Given the description of an element on the screen output the (x, y) to click on. 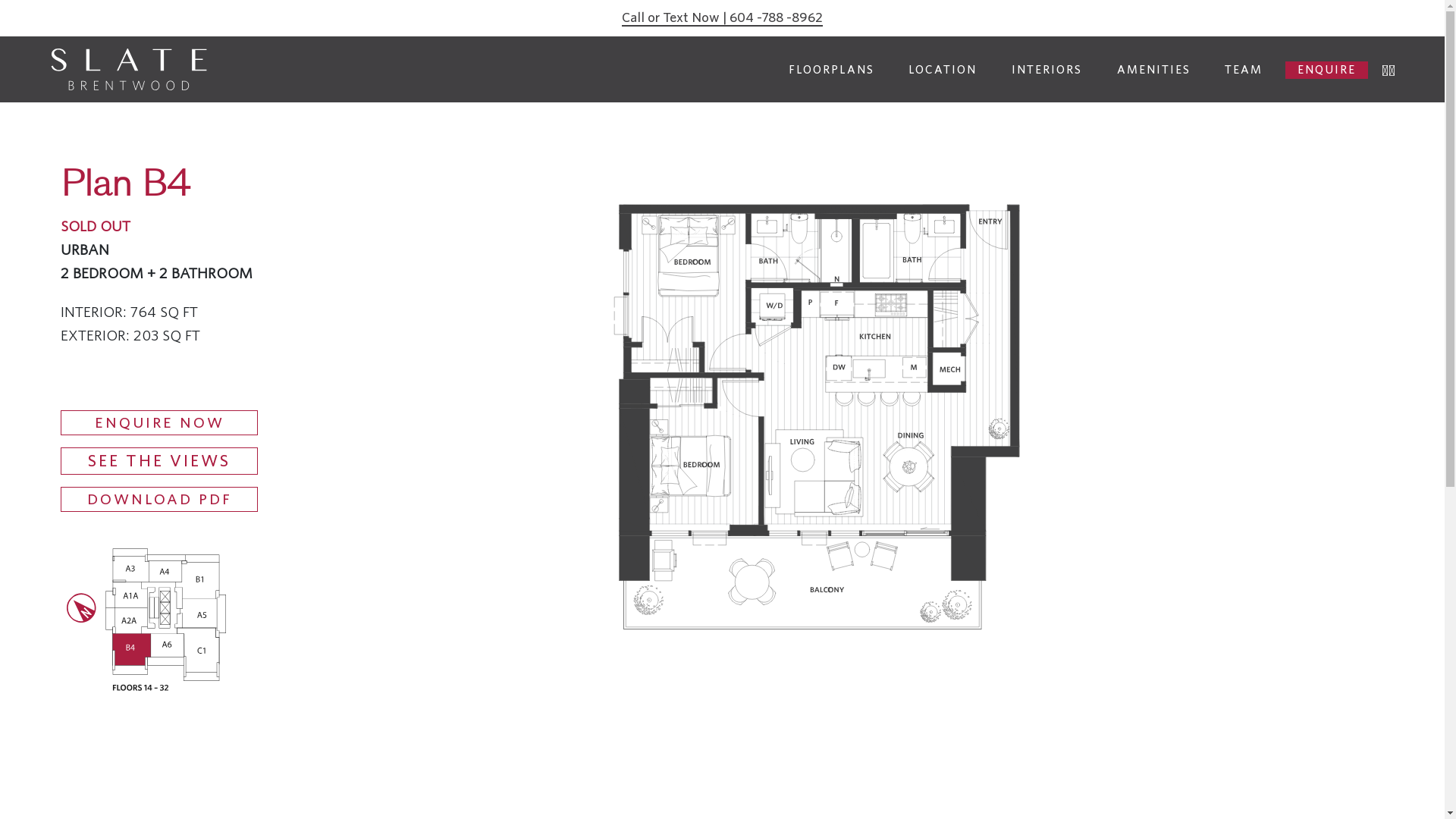
Call or Text Now | 604 -788 -8962 Element type: text (722, 18)
LOCATION Element type: text (942, 68)
TEAM Element type: text (1243, 68)
DOWNLOAD PDF Element type: text (158, 499)
DOWNLOAD PDF Element type: text (158, 498)
FLOORPLANS Element type: text (831, 68)
AMENITIES Element type: text (1153, 68)
ENQUIRE NOW Element type: text (158, 423)
ENQUIRE NOW Element type: text (158, 422)
SEE THE VIEWS Element type: text (158, 460)
ENQUIRE Element type: text (1326, 68)
INTERIORS Element type: text (1046, 68)
